Given the description of an element on the screen output the (x, y) to click on. 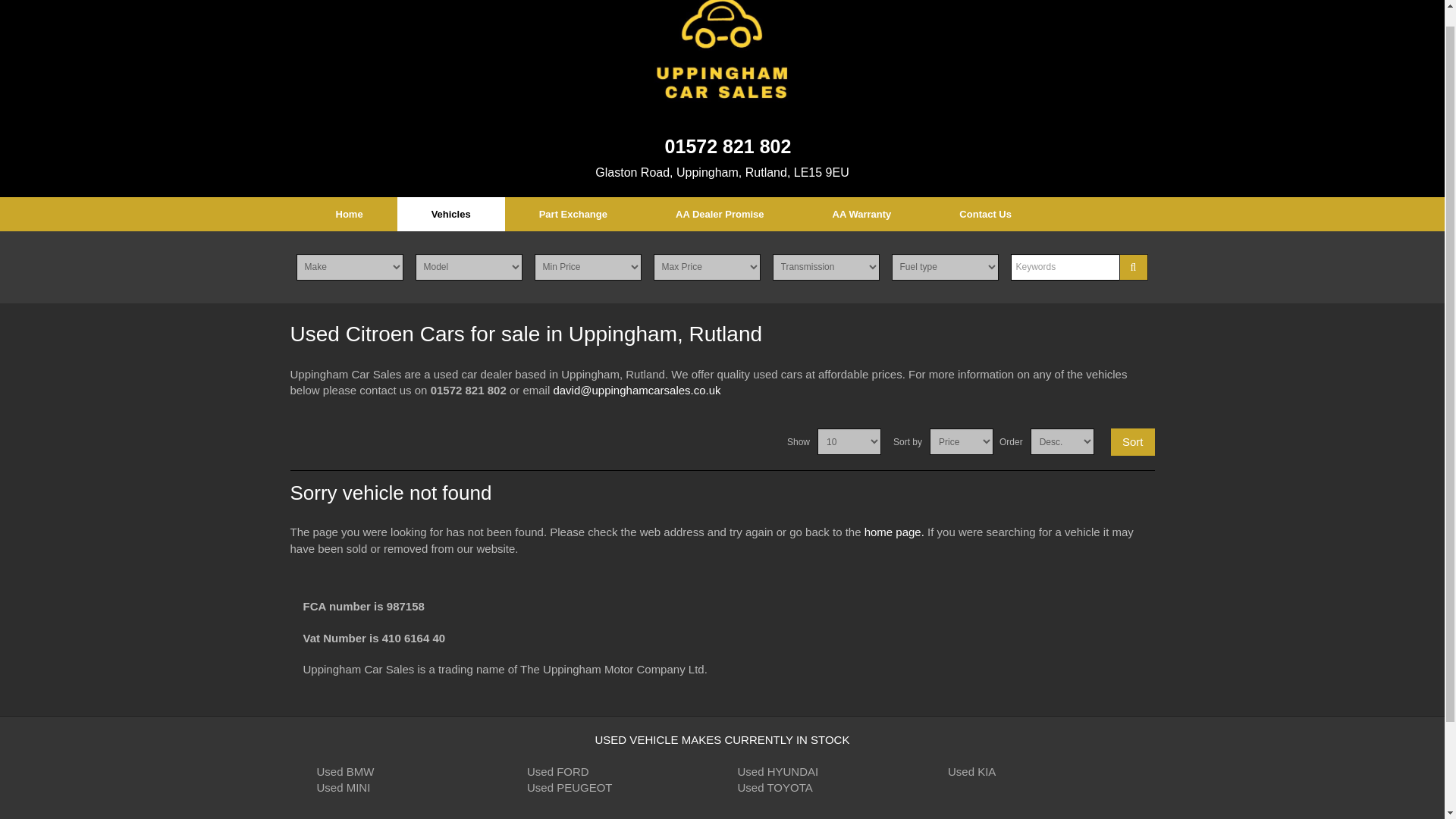
Used PEUGEOT (569, 787)
Vehicles (451, 213)
AA Warranty (861, 213)
Uppingham Car Sales (722, 53)
AA Dealer Promise (719, 213)
Used TOYOTA (774, 787)
Vehicles (451, 213)
Used MINI (344, 787)
Used BMW (345, 771)
AA Dealer Promise (719, 213)
Part Exchange (573, 213)
Sort (1132, 441)
Used HYUNDAI (777, 771)
AA Warranty (861, 213)
Home (349, 213)
